Given the description of an element on the screen output the (x, y) to click on. 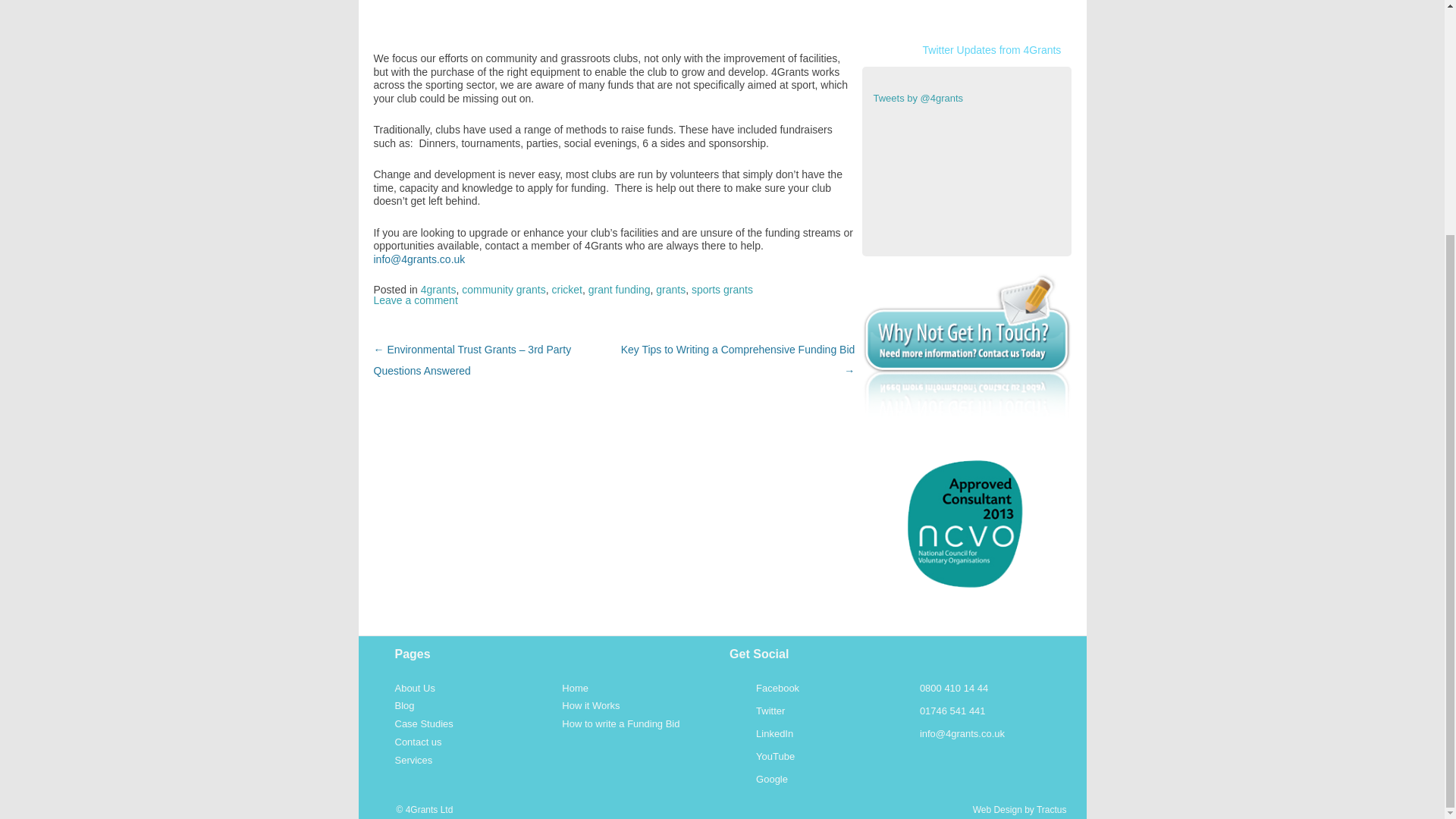
cricket (566, 289)
grants (670, 289)
Leave a comment (414, 300)
community grants (502, 289)
4grants (438, 289)
grant funding (619, 289)
sports grants (721, 289)
